Given the description of an element on the screen output the (x, y) to click on. 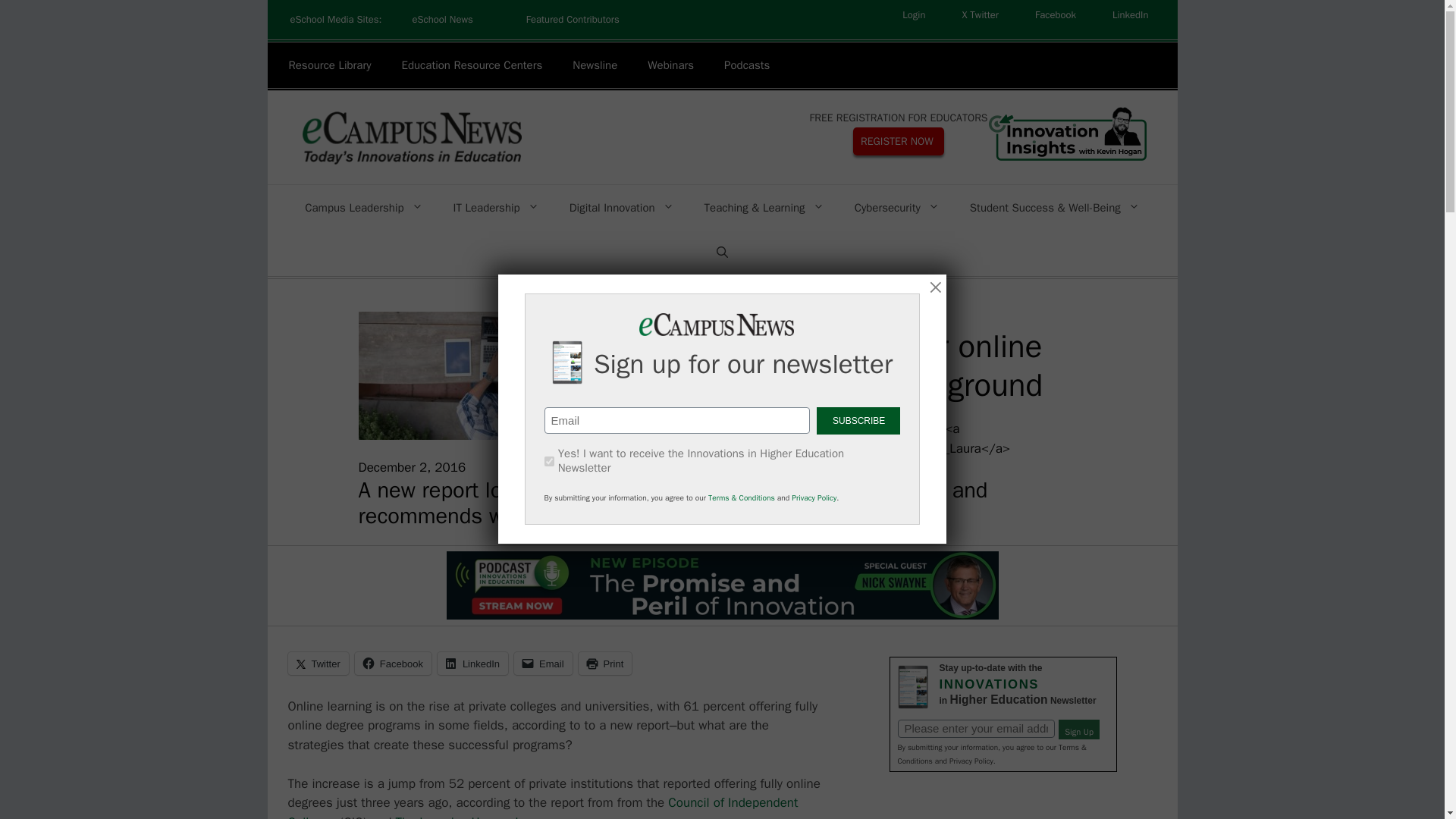
X Twitter (979, 15)
Education Resource Centers (472, 64)
Login (913, 15)
200 (549, 461)
LinkedIn (1130, 15)
Podcasts (746, 64)
Click to email a link to a friend (542, 662)
eCampus News (410, 136)
eCampus News (410, 137)
SUBSCRIBE (857, 420)
Featured Contributors (572, 19)
LinkedIn (1130, 15)
Facebook (1055, 15)
eSchool Media Sites: (335, 19)
Webinars (670, 64)
